Given the description of an element on the screen output the (x, y) to click on. 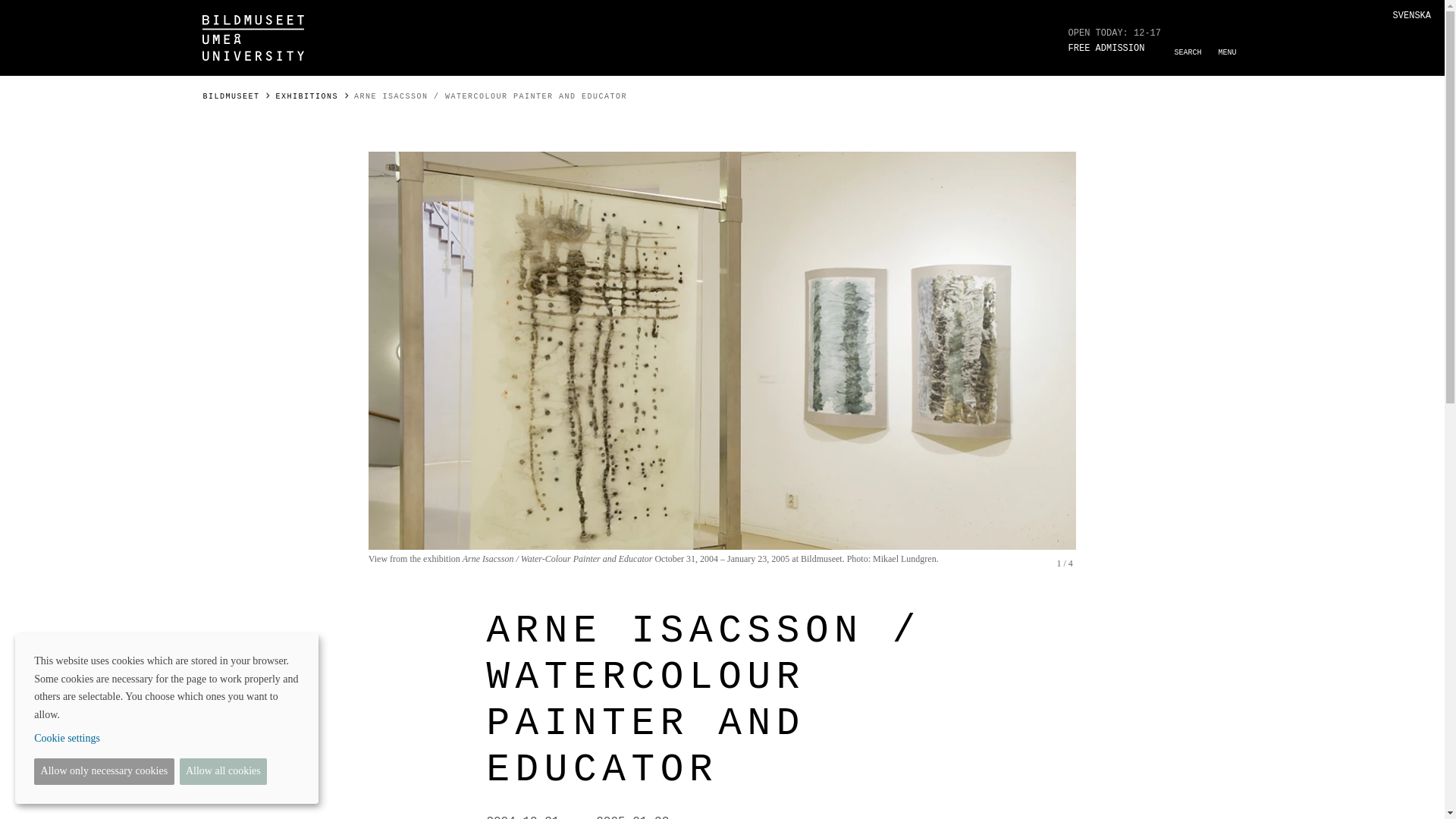
Allow all cookies (223, 771)
Allow only necessary cookies (103, 771)
BILDMUSEET (230, 96)
Cookie settings (163, 738)
EXHIBITIONS (307, 96)
SVENSKA (1412, 15)
